Given the description of an element on the screen output the (x, y) to click on. 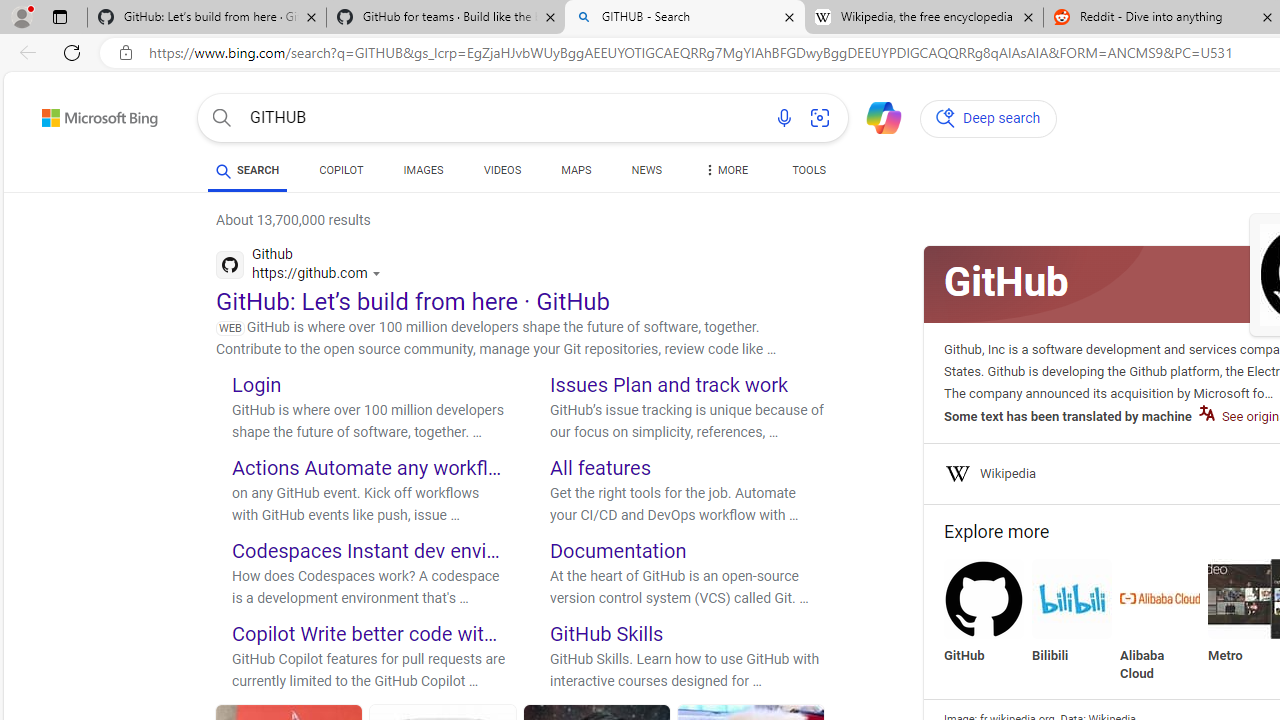
Explore more Bilibili (1071, 611)
COPILOT (341, 170)
Chat (875, 116)
Actions for this site (378, 273)
All features (600, 467)
Dropdown Menu (724, 170)
MAPS (576, 170)
TOOLS (808, 173)
Login (256, 384)
